Given the description of an element on the screen output the (x, y) to click on. 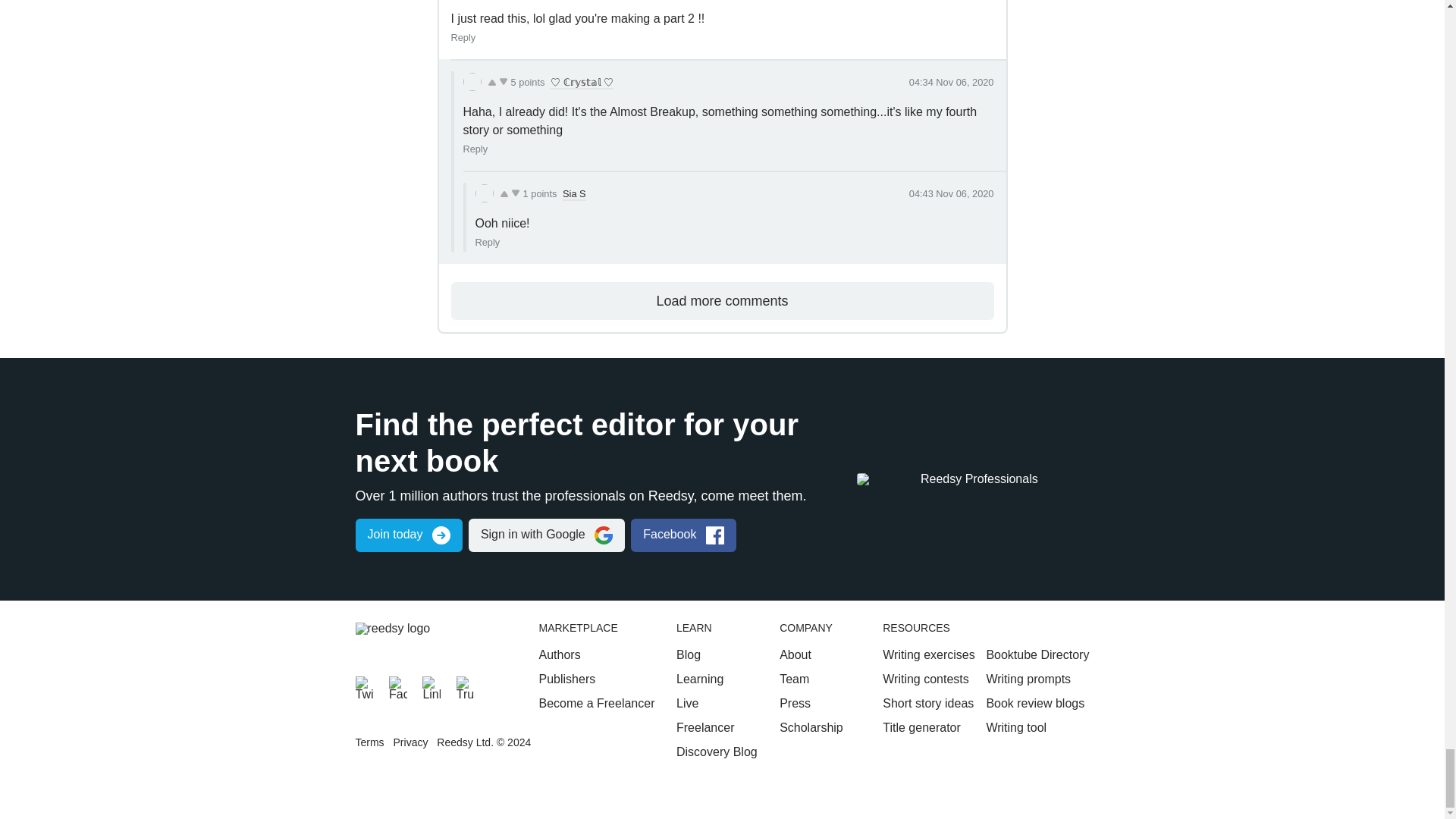
Trustpilot (465, 685)
Sign in with Facebook (683, 535)
LinkedIn (431, 685)
Sign in with Google (546, 535)
Twitter (363, 685)
Facebook (397, 685)
Sign up (408, 535)
